Given the description of an element on the screen output the (x, y) to click on. 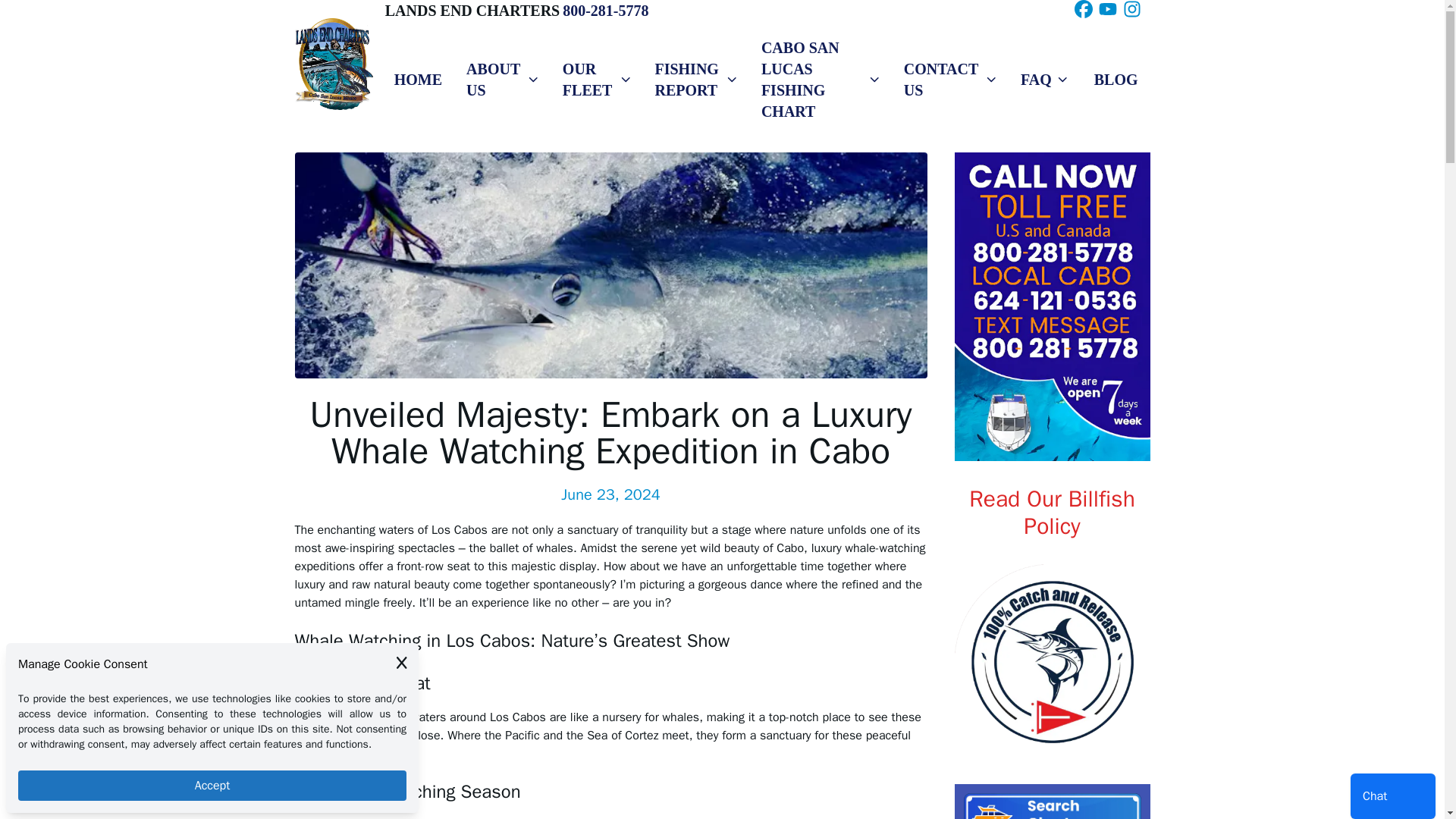
Read Our Billfish Policy (1052, 512)
FISHING REPORT (695, 78)
FAQ (1045, 78)
ABOUT US (502, 78)
HOME (417, 78)
CABO SAN LUCAS FISHING CHART (820, 78)
OUR FLEET (596, 78)
800-281-5778 (604, 10)
CONTACT US (950, 78)
BLOG (1115, 78)
